Given the description of an element on the screen output the (x, y) to click on. 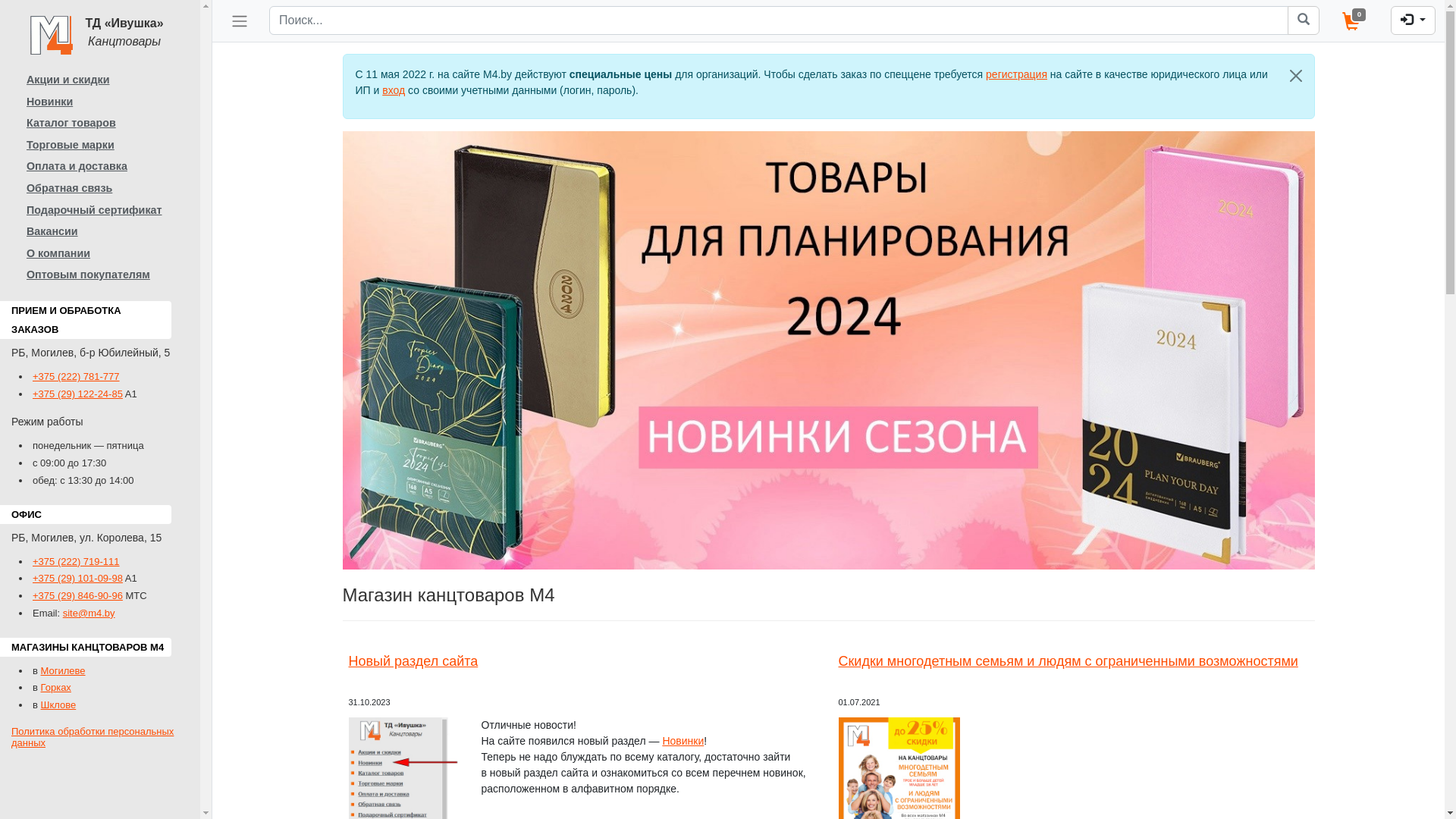
+375 (29) 122-24-85 Element type: text (77, 393)
+375 (29) 101-09-98 Element type: text (77, 577)
0 Element type: text (1355, 20)
+375 (222) 719-111 Element type: text (75, 561)
site@m4.by Element type: text (88, 612)
+375 (29) 846-90-96 Element type: text (77, 595)
+375 (222) 781-777 Element type: text (75, 376)
